Given the description of an element on the screen output the (x, y) to click on. 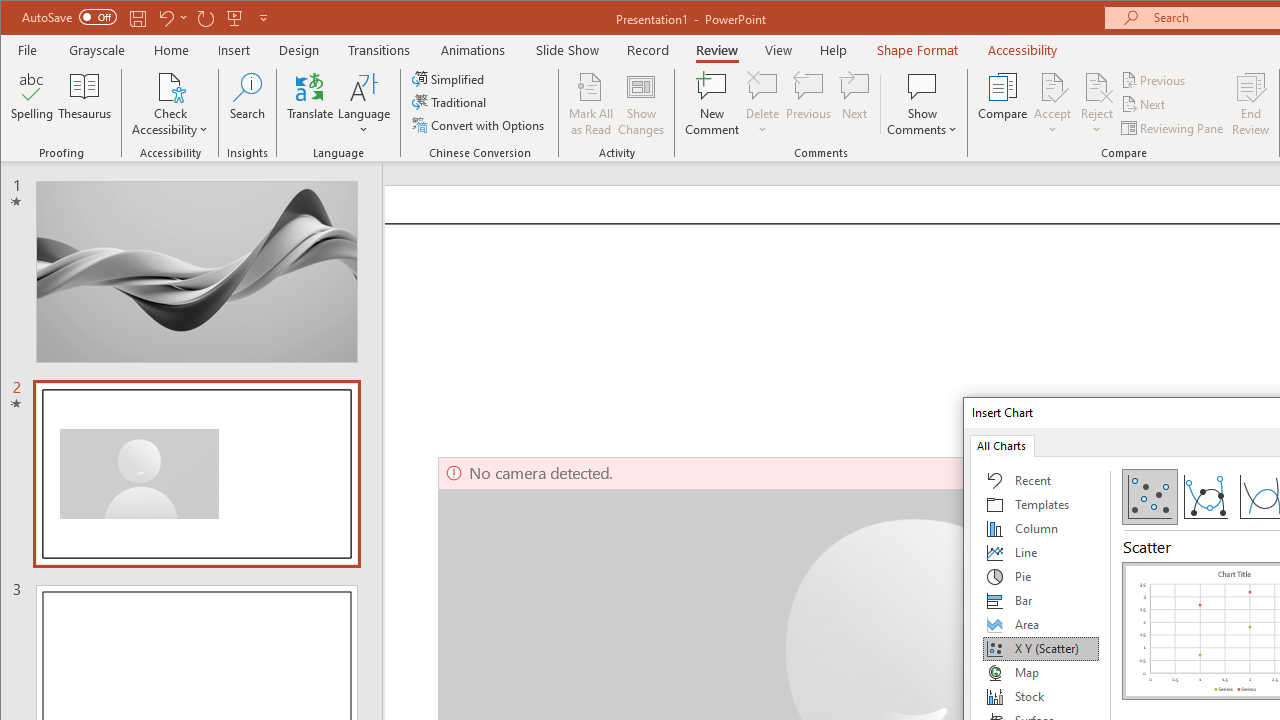
Reviewing Pane (1173, 127)
Templates (1041, 504)
Shape Format (916, 50)
Check Accessibility (170, 104)
